Given the description of an element on the screen output the (x, y) to click on. 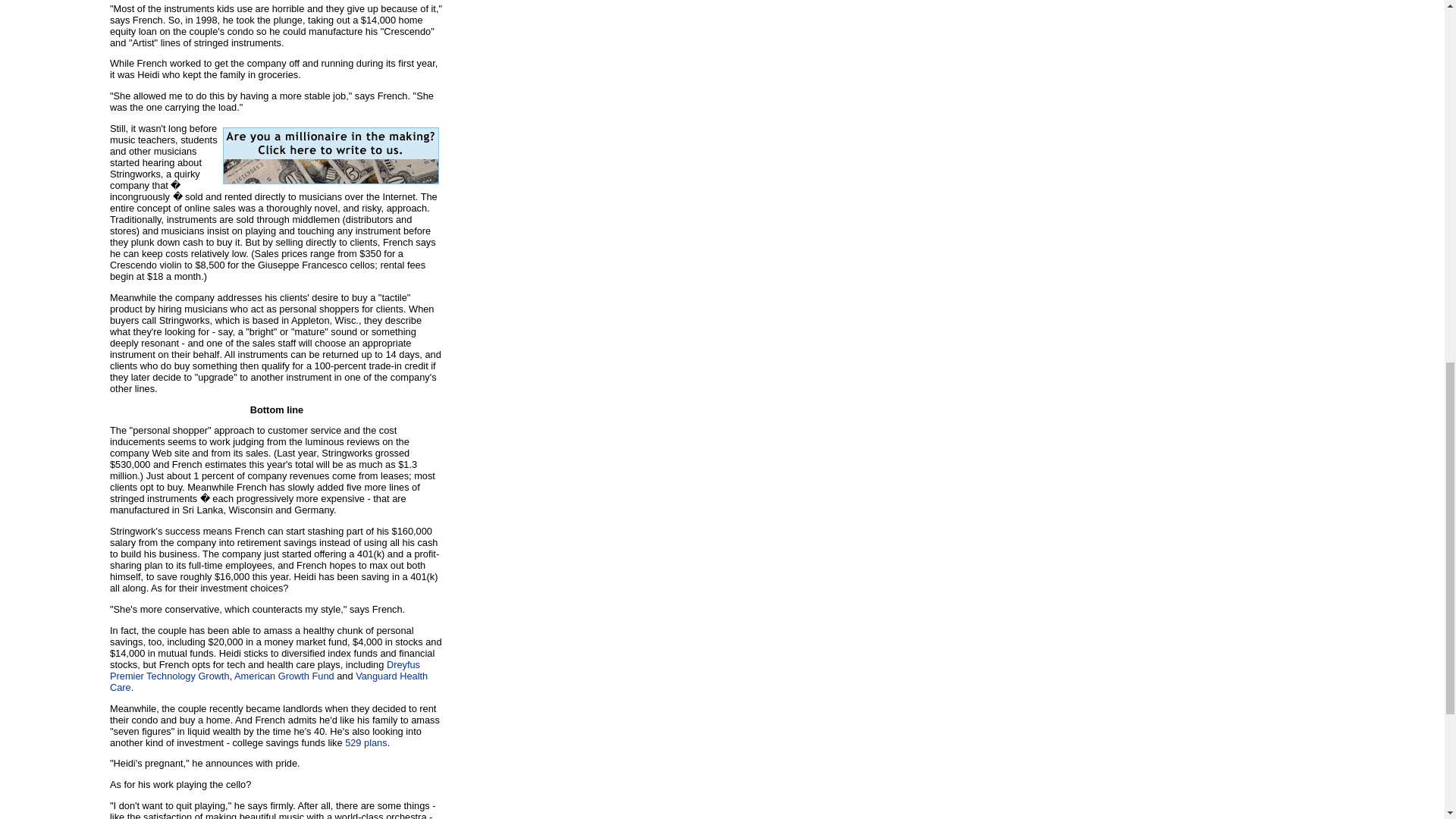
Dreyfus Premier Technology Growth (265, 670)
Vanguard Health Care (269, 681)
American Growth Fund (284, 675)
529 plans (366, 742)
